Given the description of an element on the screen output the (x, y) to click on. 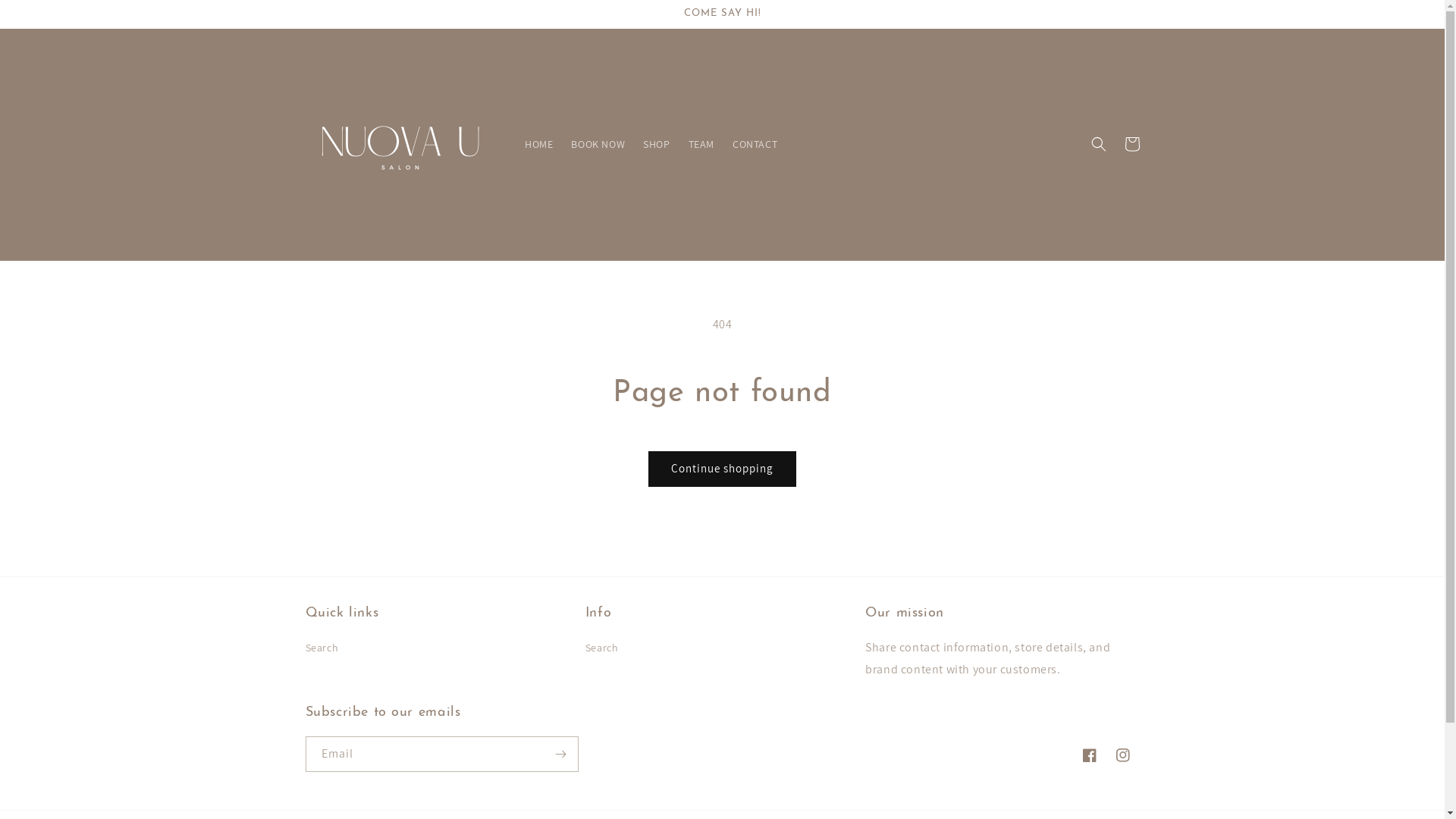
Continue shopping Element type: text (722, 468)
Cart Element type: text (1131, 143)
Search Element type: text (321, 649)
Search Element type: text (601, 649)
BOOK NOW Element type: text (597, 144)
TEAM Element type: text (701, 144)
CONTACT Element type: text (754, 144)
HOME Element type: text (538, 144)
Instagram Element type: text (1122, 754)
SHOP Element type: text (655, 144)
Facebook Element type: text (1088, 754)
